Given the description of an element on the screen output the (x, y) to click on. 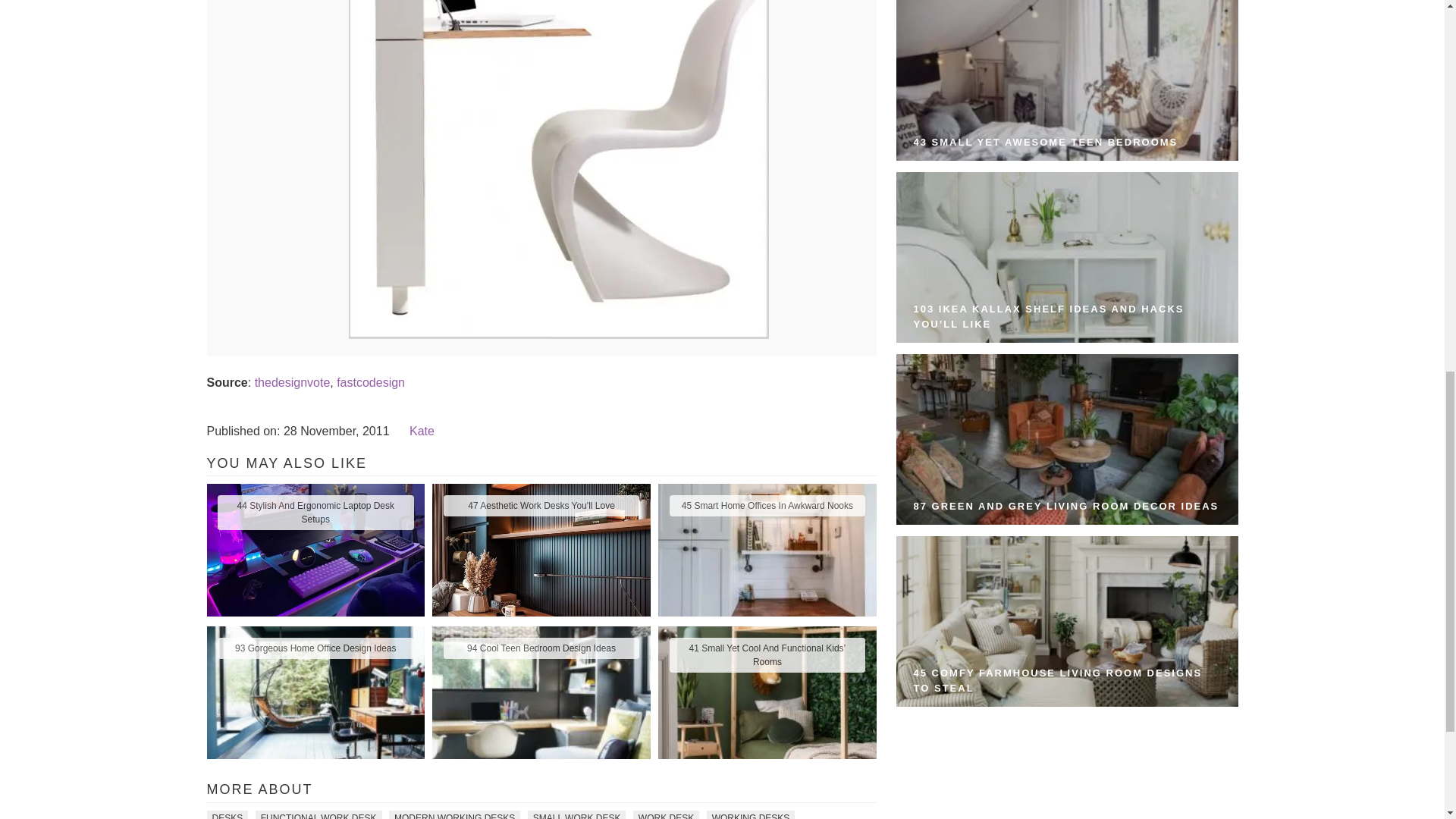
44 Stylish And Ergonomic Laptop Desk Setups (314, 512)
94 Cool Teen Bedroom Design Ideas (542, 648)
93 Gorgeous Home Office Design Ideas (314, 648)
DESKS (226, 814)
thedesignvote (292, 382)
43 Small Yet Awesome Teen Bedrooms (1066, 80)
45 Smart Home Offices In Awkward Nooks (766, 505)
43 Small Yet Awesome Teen Bedrooms (1045, 142)
FUNCTIONAL WORK DESK (318, 814)
MODERN WORKING DESKS (453, 814)
fastcodesign (370, 382)
Smallest But Comfortable Working Space (558, 334)
47 Aesthetic Work Desks You'll Love (542, 505)
Kate (421, 431)
